Given the description of an element on the screen output the (x, y) to click on. 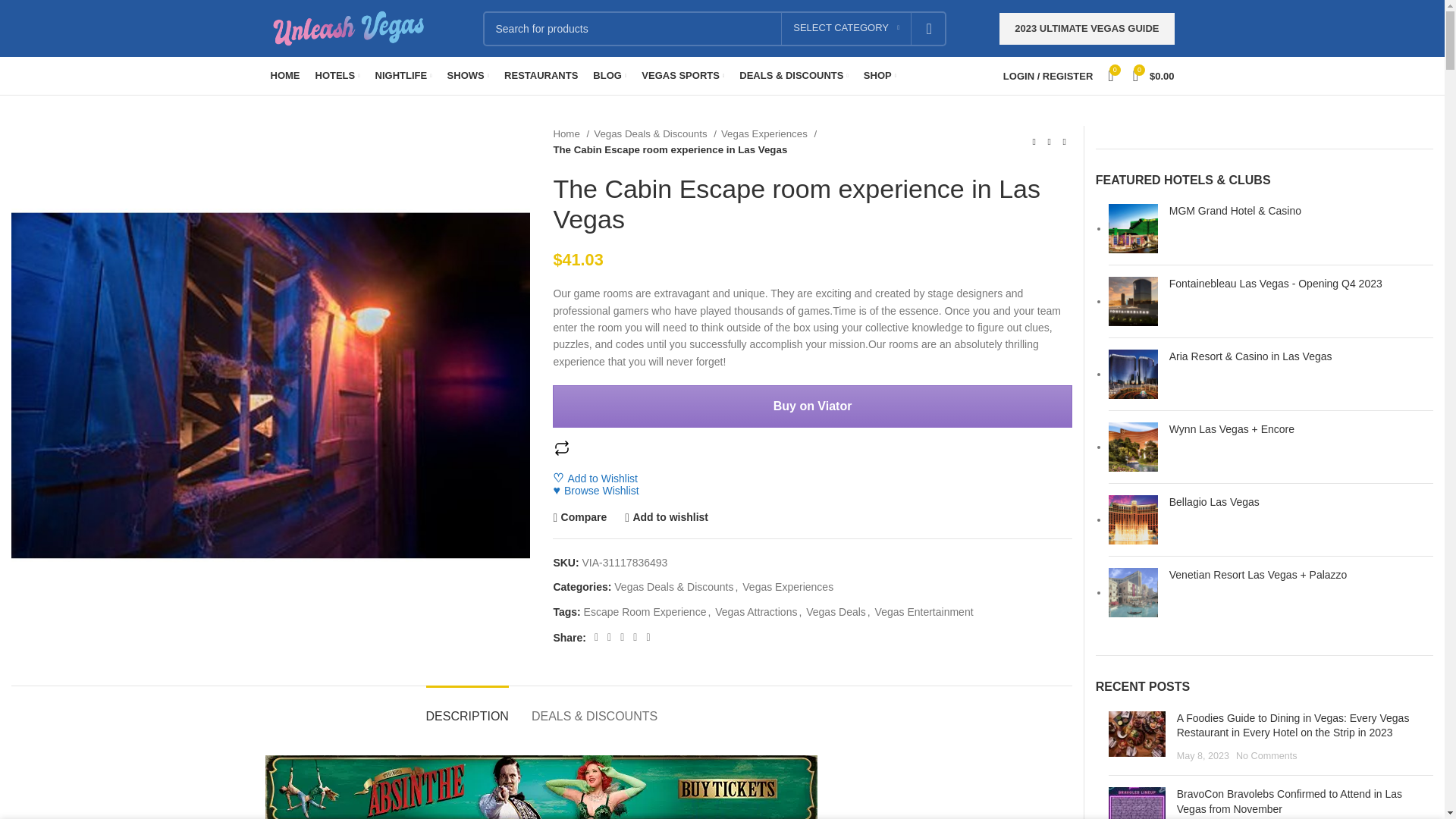
Shopping cart (1153, 75)
SELECT CATEGORY (845, 28)
Search for products (713, 27)
My account (1047, 75)
SELECT CATEGORY (845, 28)
Fontainebleau Las Vegas - Opening Q4 2023 (1132, 300)
Buy on Viator (812, 405)
My Wishlist (1110, 75)
Fontainebleau Las Vegas - Opening Q4 2023 (1300, 283)
